Given the description of an element on the screen output the (x, y) to click on. 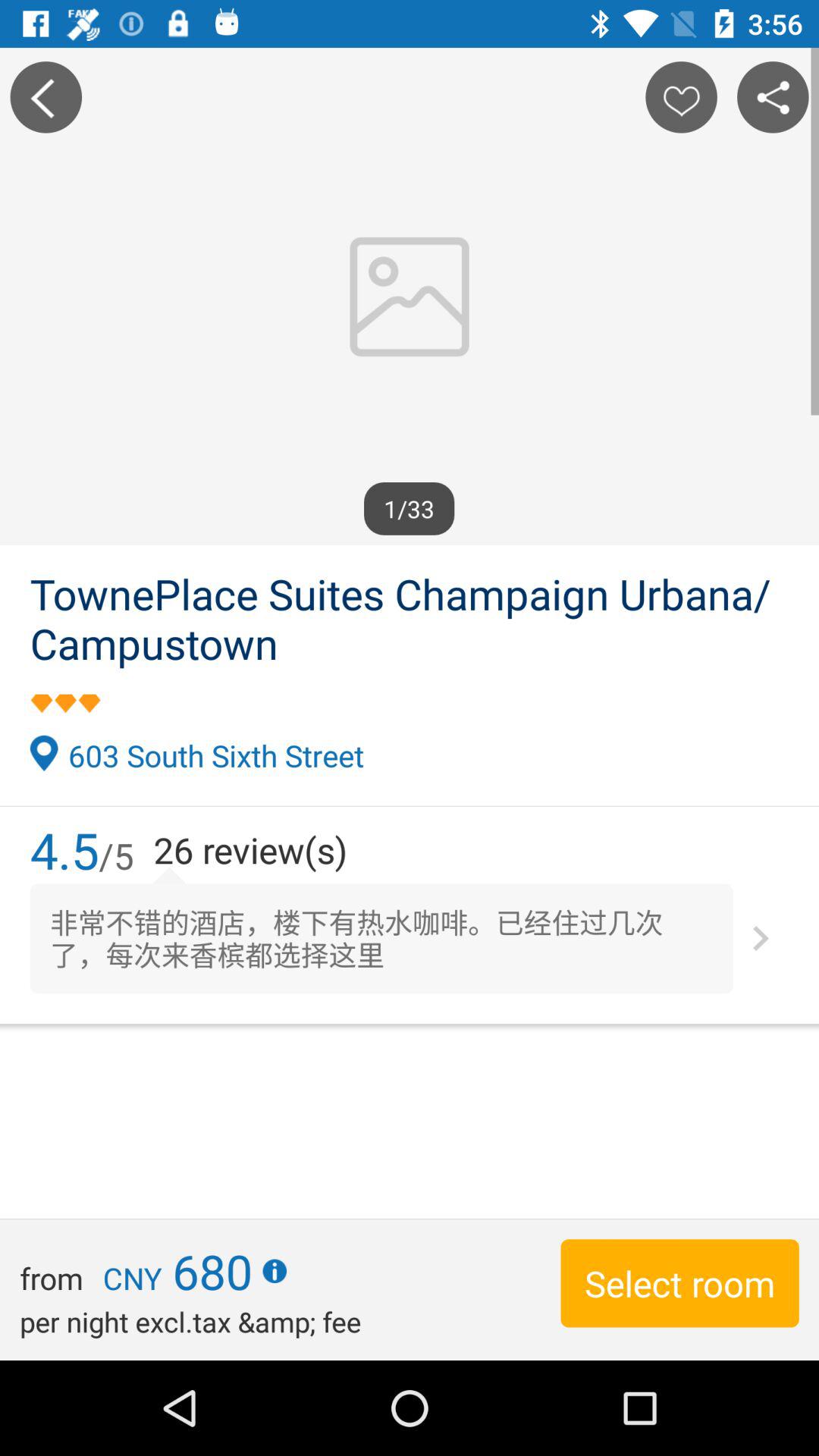
click the item at the top left corner (45, 97)
